Given the description of an element on the screen output the (x, y) to click on. 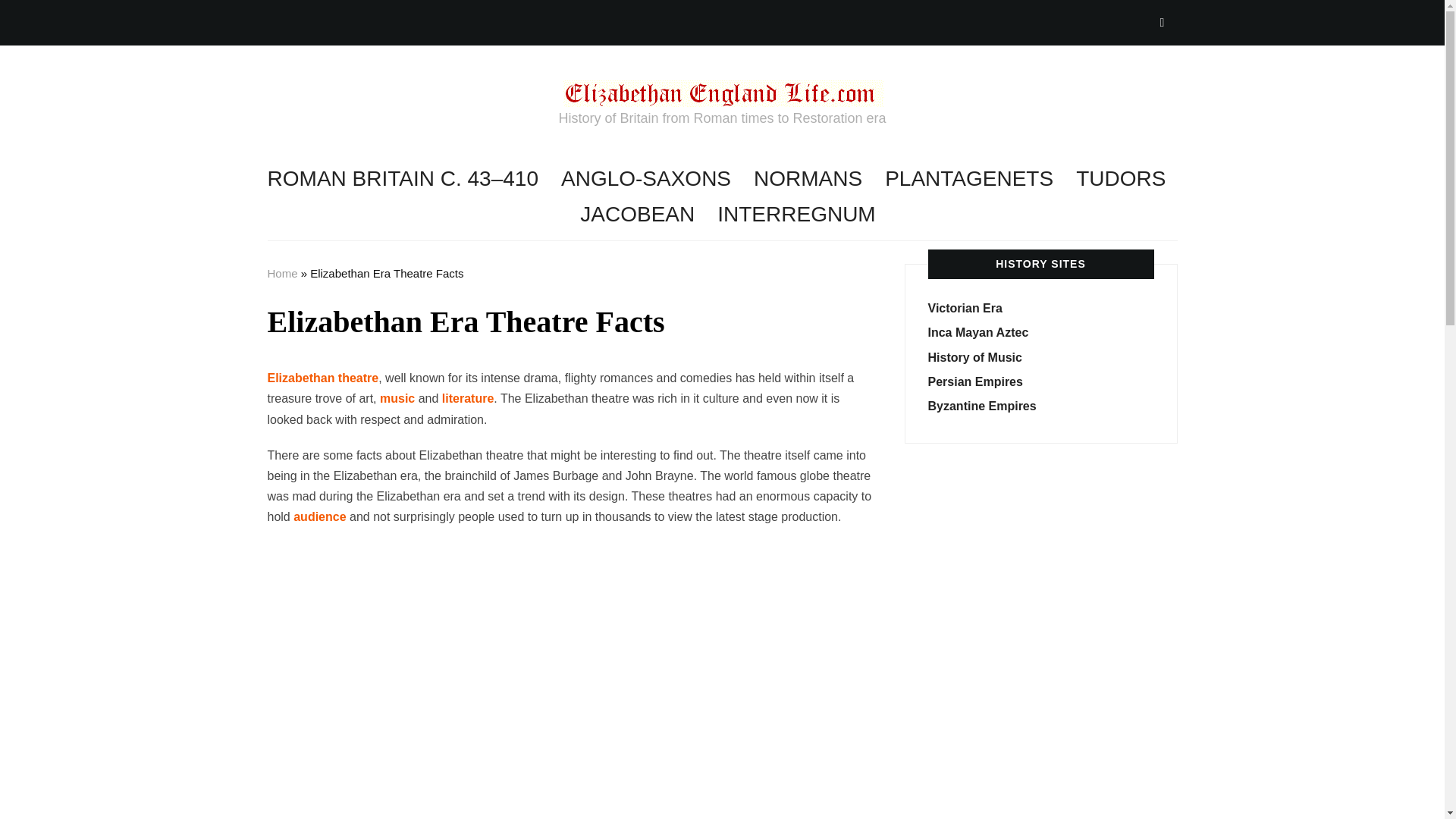
Inca Mayan Aztec (978, 332)
ANGLO-SAXONS (645, 178)
Home (281, 273)
Search (1161, 22)
Victorian Era (965, 308)
Byzantine Empires (982, 405)
JACOBEAN (636, 214)
audience (320, 516)
INTERREGNUM (796, 214)
Elizabethan theatre (322, 377)
